Given the description of an element on the screen output the (x, y) to click on. 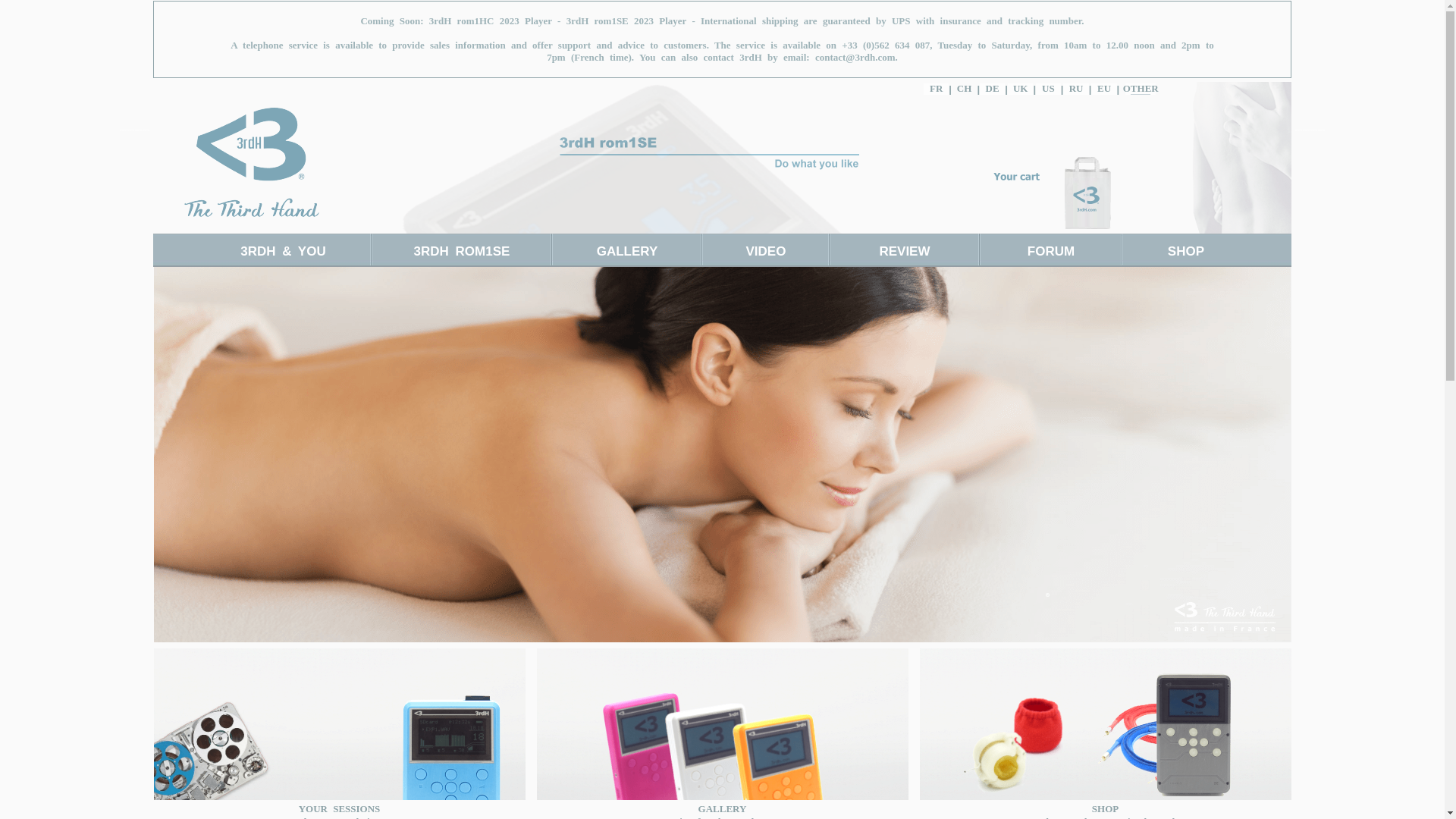
VIDEO Element type: text (765, 251)
contact@3rdh.com Element type: text (855, 56)
RU Element type: text (1075, 87)
DE Element type: text (992, 87)
SHOP Element type: text (1185, 251)
FR Element type: text (935, 87)
EU Element type: text (1103, 87)
US Element type: text (1047, 87)
FR Element type: text (935, 87)
3RDH ROM1SE Element type: text (461, 251)
UK Element type: text (1020, 87)
REVIEW Element type: text (904, 251)
CH Element type: text (964, 87)
FORUM Element type: text (1050, 251)
OTHER Element type: text (1140, 87)
3RDH ROM1SE Element type: text (461, 251)
GALLERY Element type: text (626, 251)
FORUM Element type: text (1050, 251)
RU Element type: text (1076, 87)
EU Element type: text (1103, 87)
OTHER Element type: text (1140, 87)
3RDH & YOU Element type: text (282, 251)
US Element type: text (1047, 87)
REVIEW Element type: text (904, 251)
VIDEO Element type: text (765, 251)
DE Element type: text (991, 87)
SHOP Element type: text (1185, 251)
CH Element type: text (964, 87)
GALLERY Element type: text (626, 251)
3RDH & YOU Element type: text (282, 251)
UK Element type: text (1020, 87)
